Given the description of an element on the screen output the (x, y) to click on. 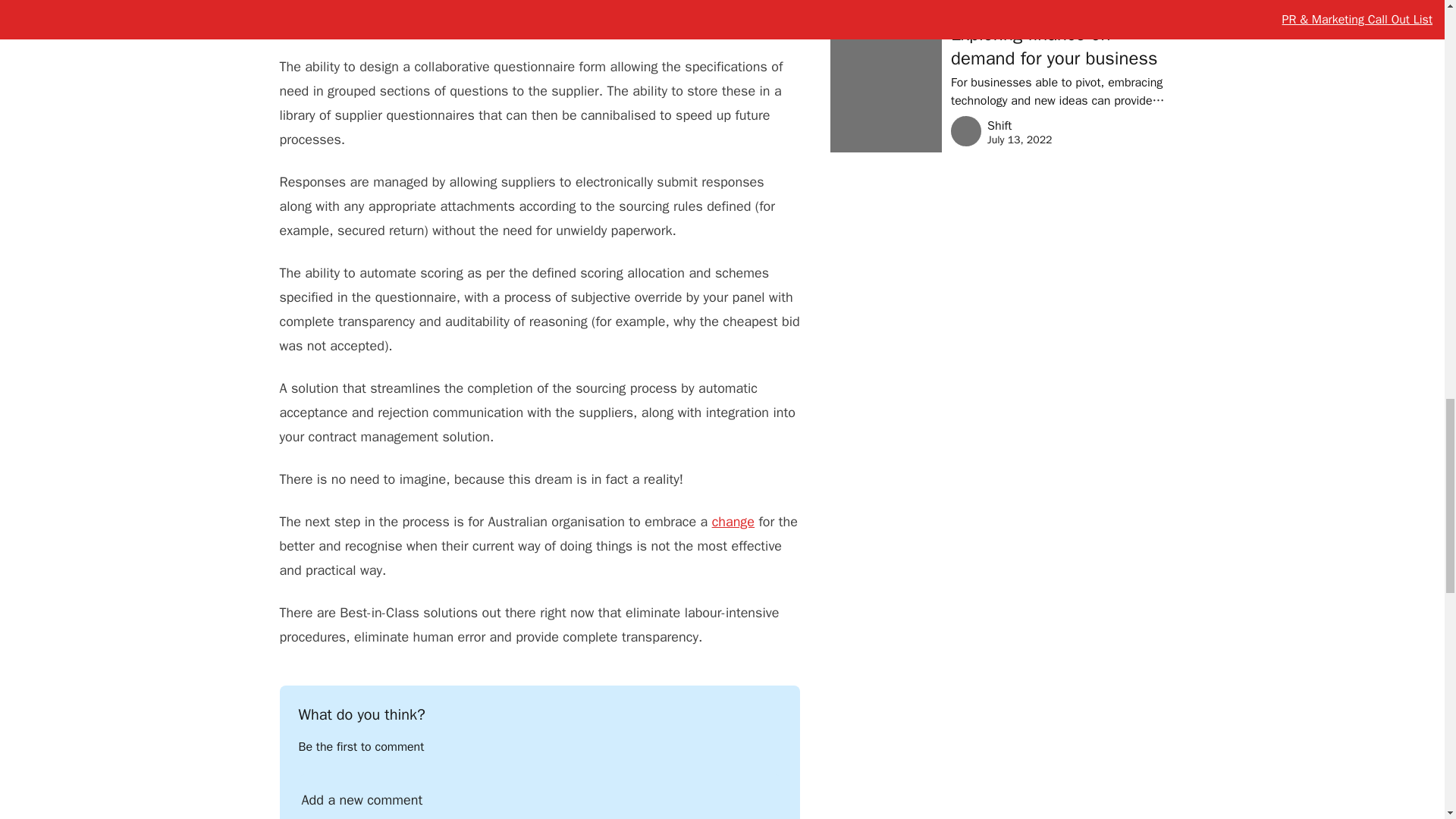
change (732, 521)
